Given the description of an element on the screen output the (x, y) to click on. 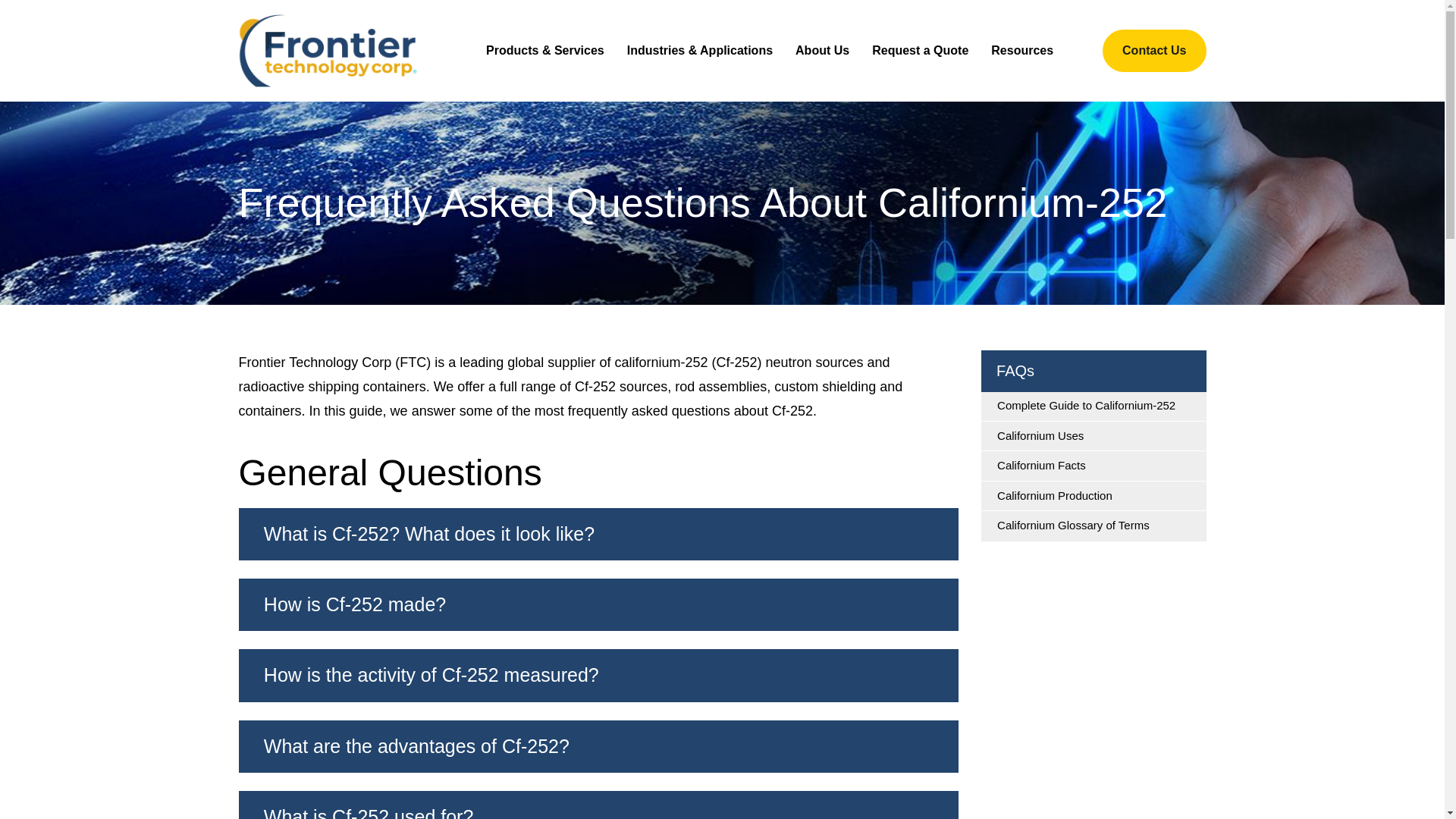
Resources (1022, 50)
Frontier Technology Corporation (327, 50)
Request a Quote (920, 50)
About Us (822, 50)
